Given the description of an element on the screen output the (x, y) to click on. 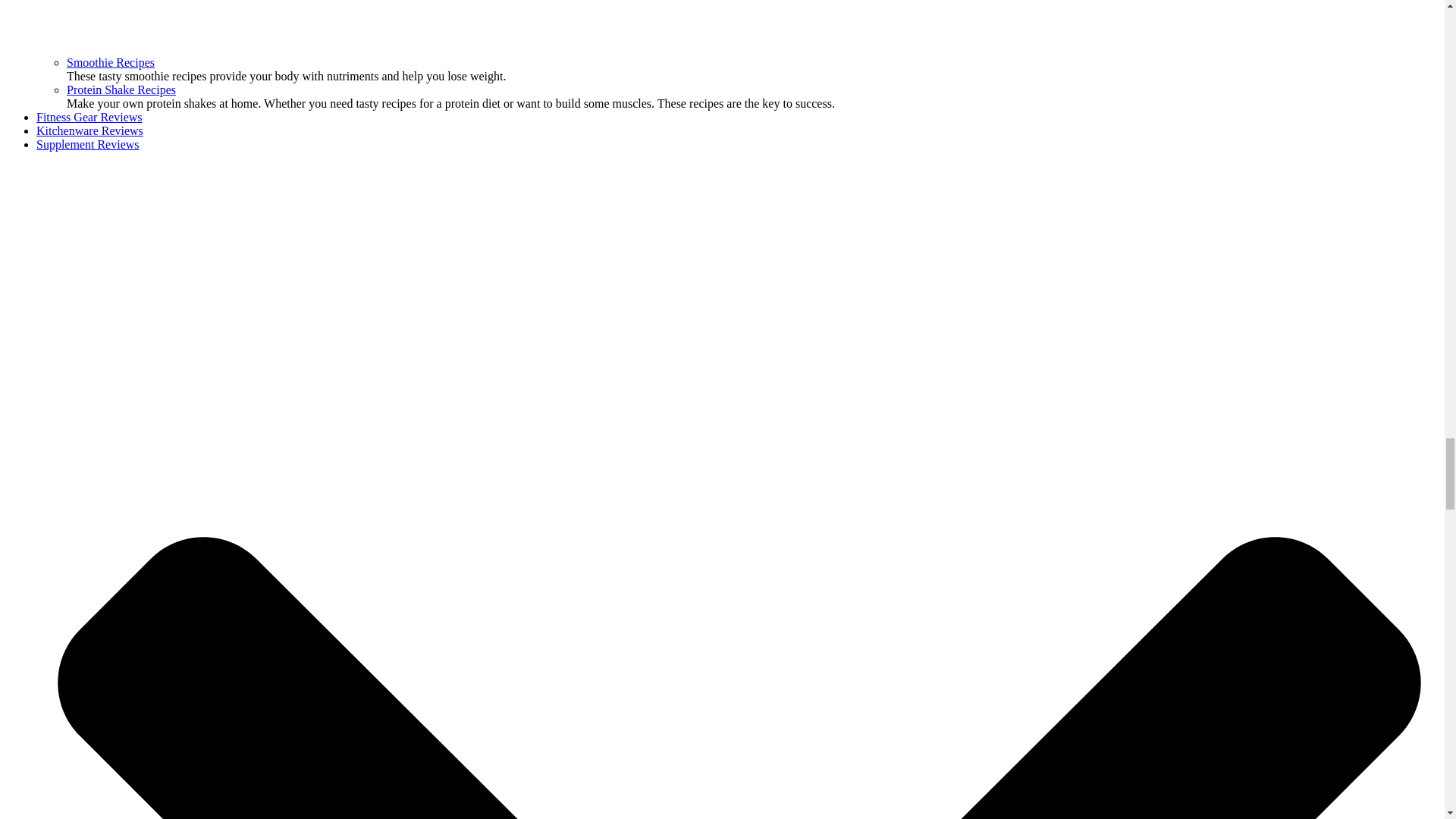
Supplement Reviews (87, 144)
Smoothie Recipes (110, 62)
Protein Shake Recipes (121, 89)
Fitness Gear Reviews (89, 116)
Kitchenware Reviews (89, 130)
